Given the description of an element on the screen output the (x, y) to click on. 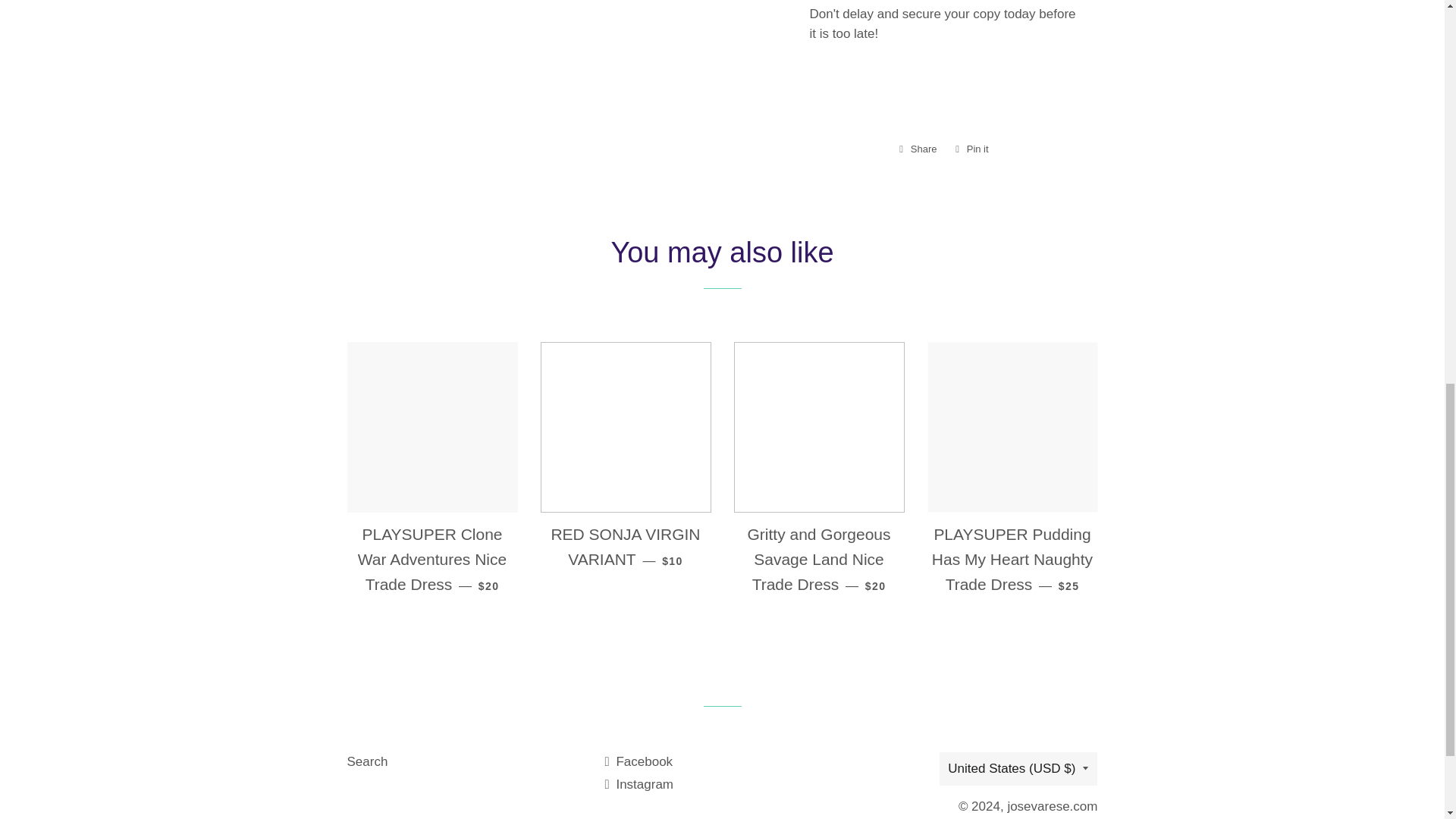
Pin on Pinterest (971, 149)
Search (917, 149)
Instagram (971, 149)
josevarese.com on Facebook (367, 761)
josevarese.com on Instagram (638, 784)
Facebook (638, 761)
Share on Facebook (638, 784)
